Given the description of an element on the screen output the (x, y) to click on. 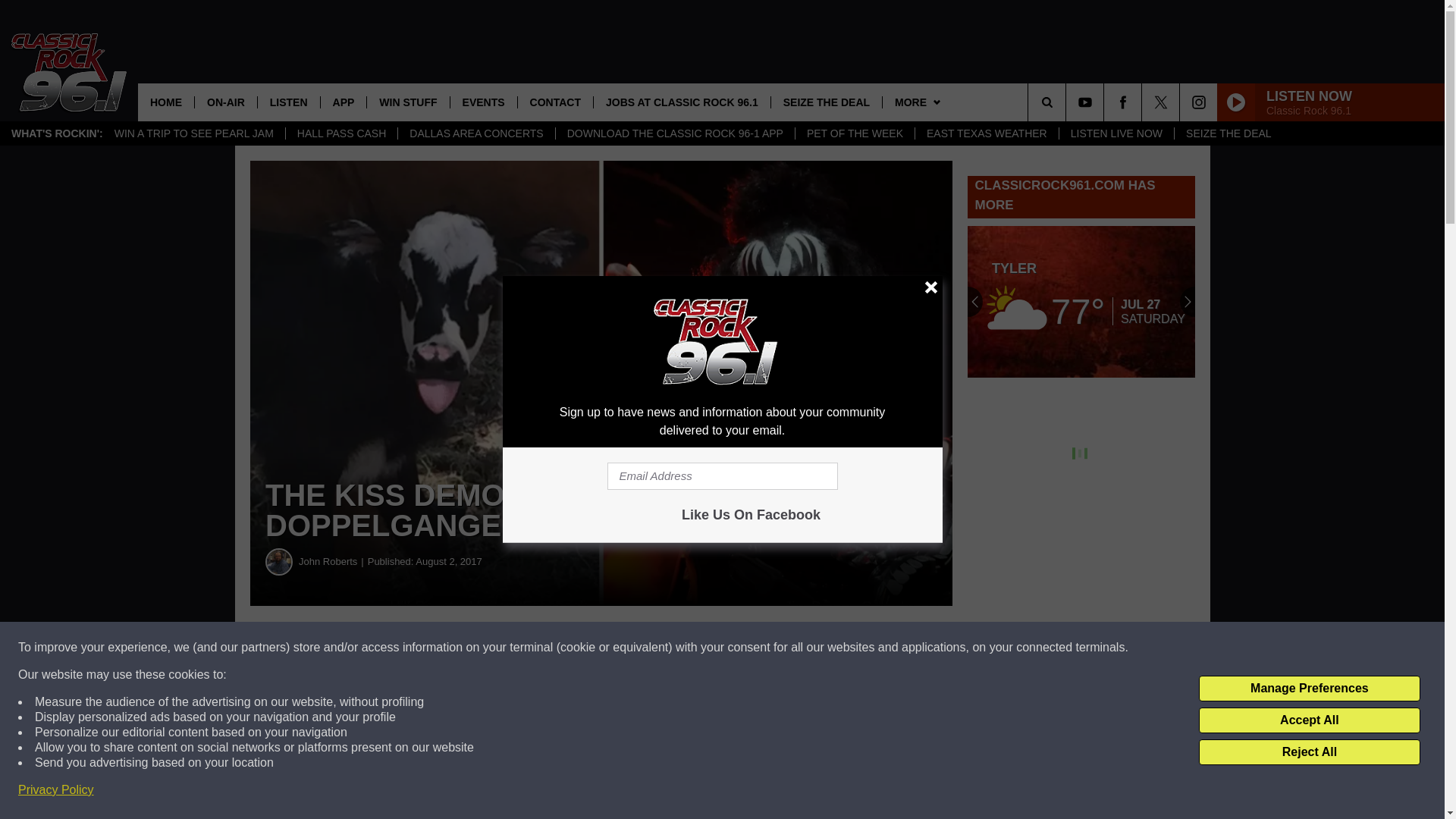
SEARCH (1068, 102)
Accept All (1309, 720)
ON-AIR (225, 102)
DALLAS AREA CONCERTS (475, 133)
Manage Preferences (1309, 688)
Reject All (1309, 751)
EAST TEXAS WEATHER (986, 133)
DOWNLOAD THE CLASSIC ROCK 96-1 APP (674, 133)
SEIZE THE DEAL (1227, 133)
PET OF THE WEEK (854, 133)
Share on Facebook (460, 647)
WIN A TRIP TO SEE PEARL JAM (194, 133)
Share on Twitter (741, 647)
LISTEN LIVE NOW (1115, 133)
Privacy Policy (55, 789)
